Given the description of an element on the screen output the (x, y) to click on. 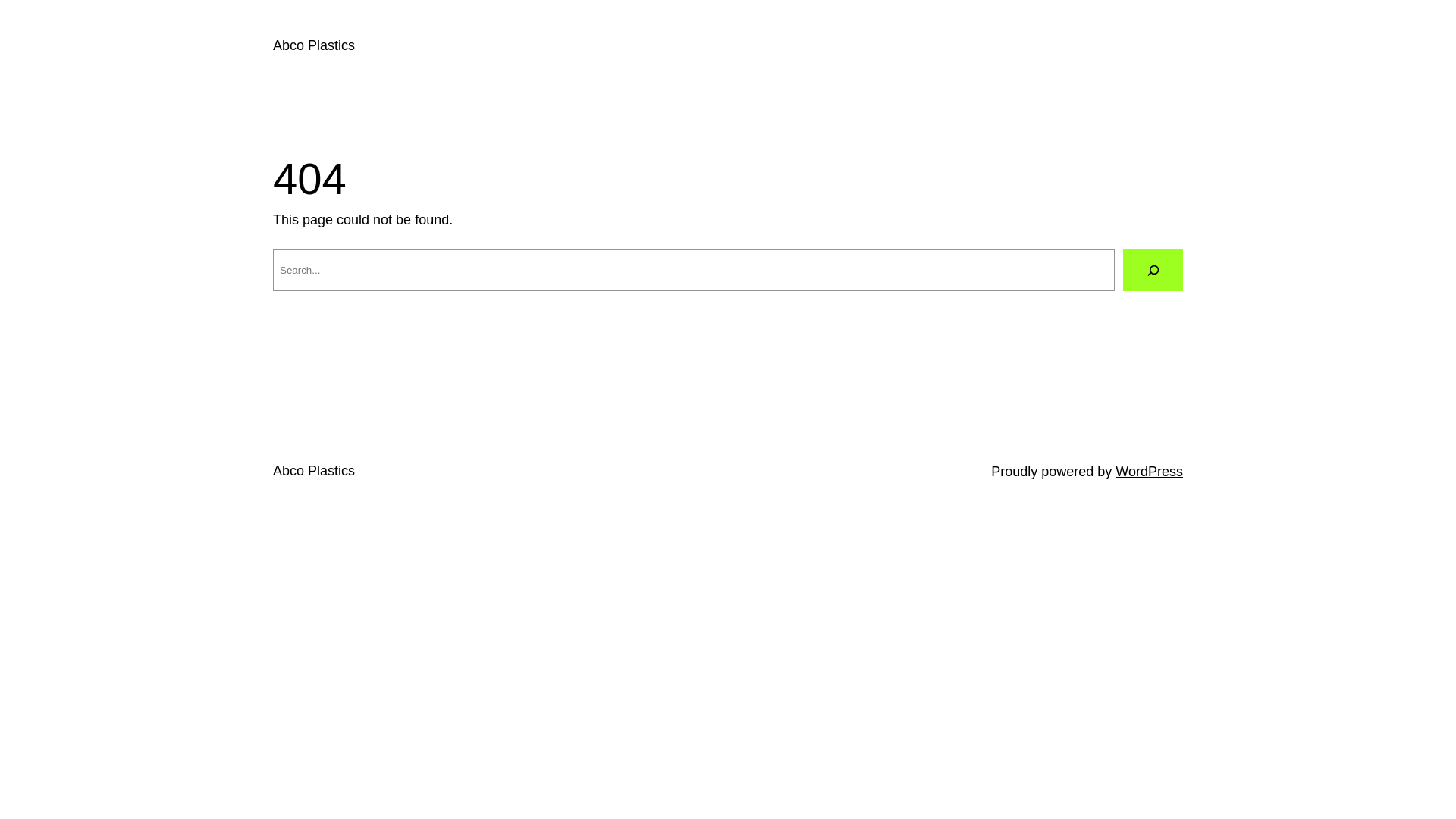
Abco Plastics Element type: text (313, 45)
Abco Plastics Element type: text (313, 470)
WordPress Element type: text (1149, 471)
